Given the description of an element on the screen output the (x, y) to click on. 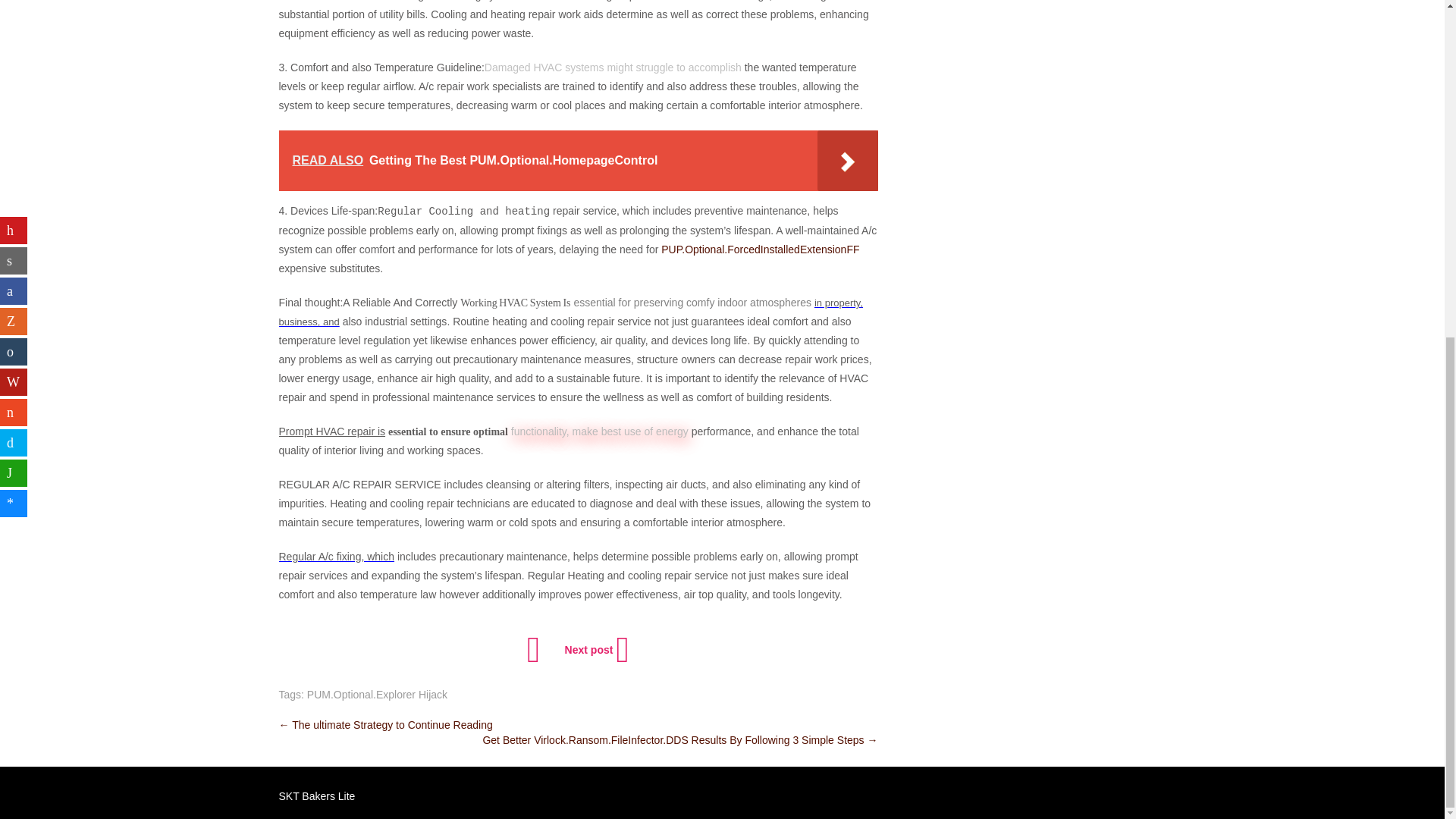
PUP.Optional.ForcedInstalledExtensionFF (760, 249)
Next post (595, 649)
READ ALSO  Getting The Best PUM.Optional.HomepageControl (578, 160)
PUM.Optional.Explorer Hijack (376, 694)
